Given the description of an element on the screen output the (x, y) to click on. 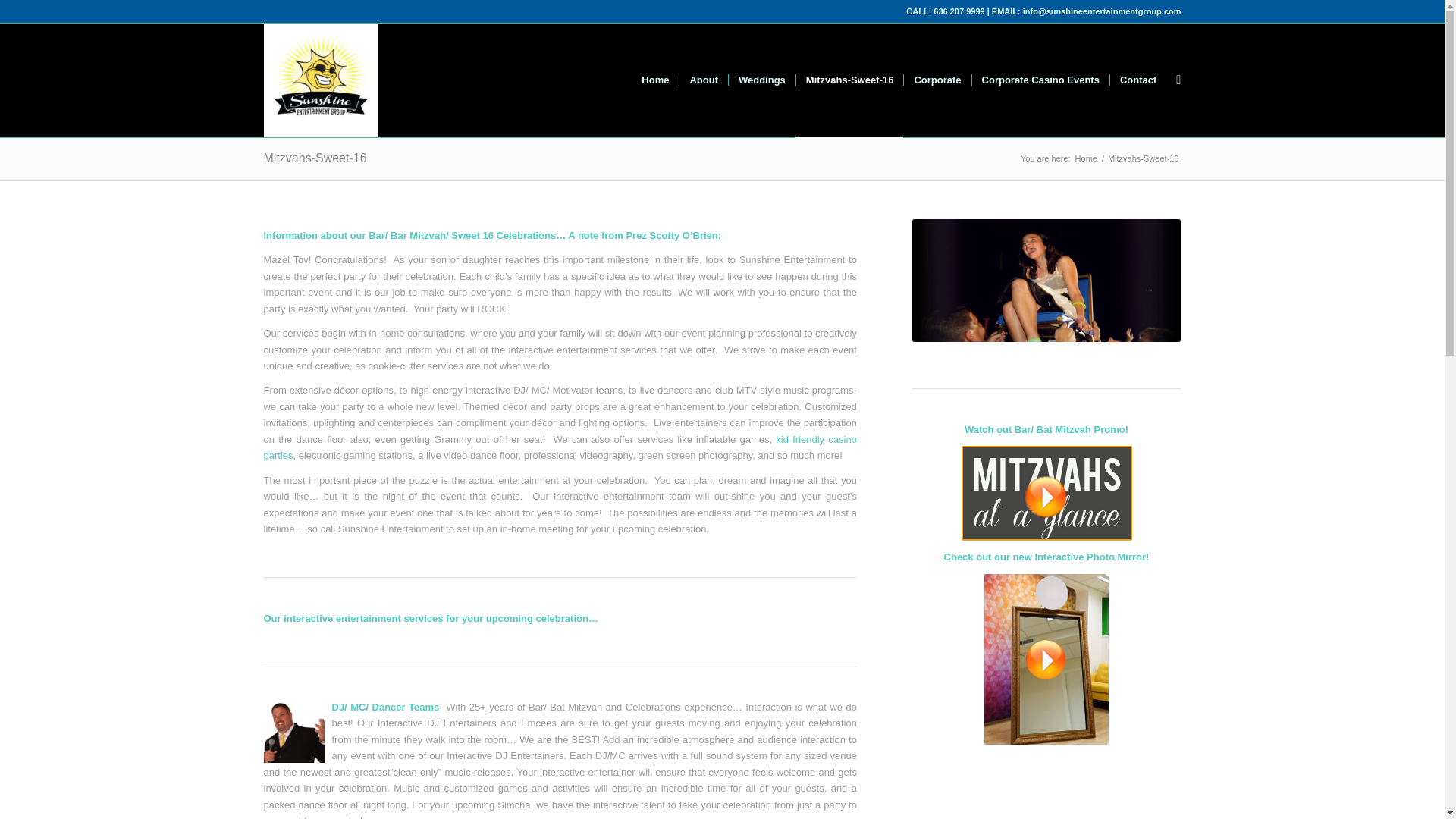
1a1 (1046, 280)
kid friendly casino parties (560, 447)
Mitzvahs-Sweet-16 (314, 157)
Permanent Link: Mitzvahs-Sweet-16 (314, 157)
Mitzvahs-Sweet-16 (849, 80)
Corporate Casino Events (1040, 80)
Home (1086, 158)
Sunshine Entertainment (1086, 158)
